Given the description of an element on the screen output the (x, y) to click on. 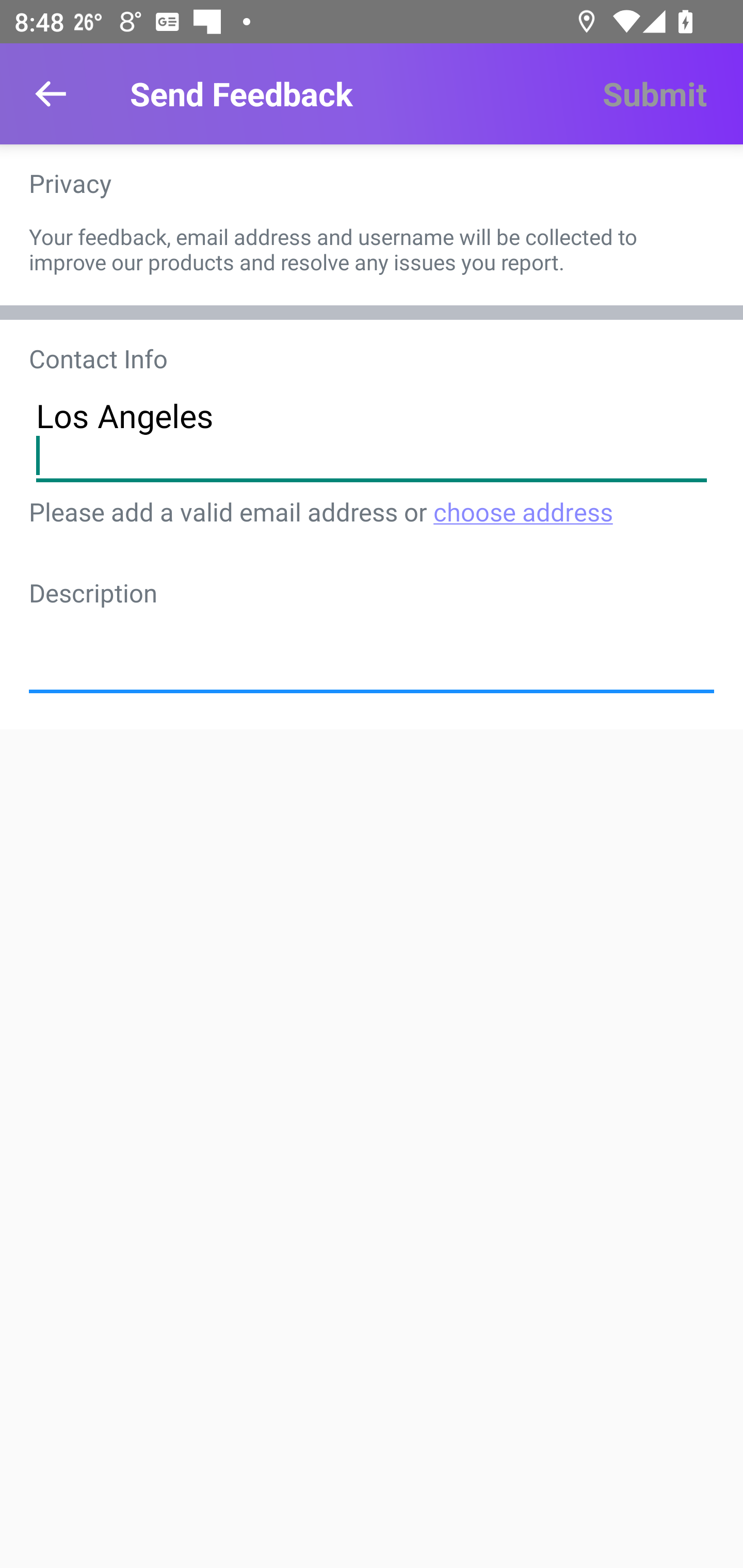
Navigate up (50, 93)
Submit (654, 94)
Los Angeles
 (371, 433)
choose address (522, 510)
feedback (371, 645)
